Given the description of an element on the screen output the (x, y) to click on. 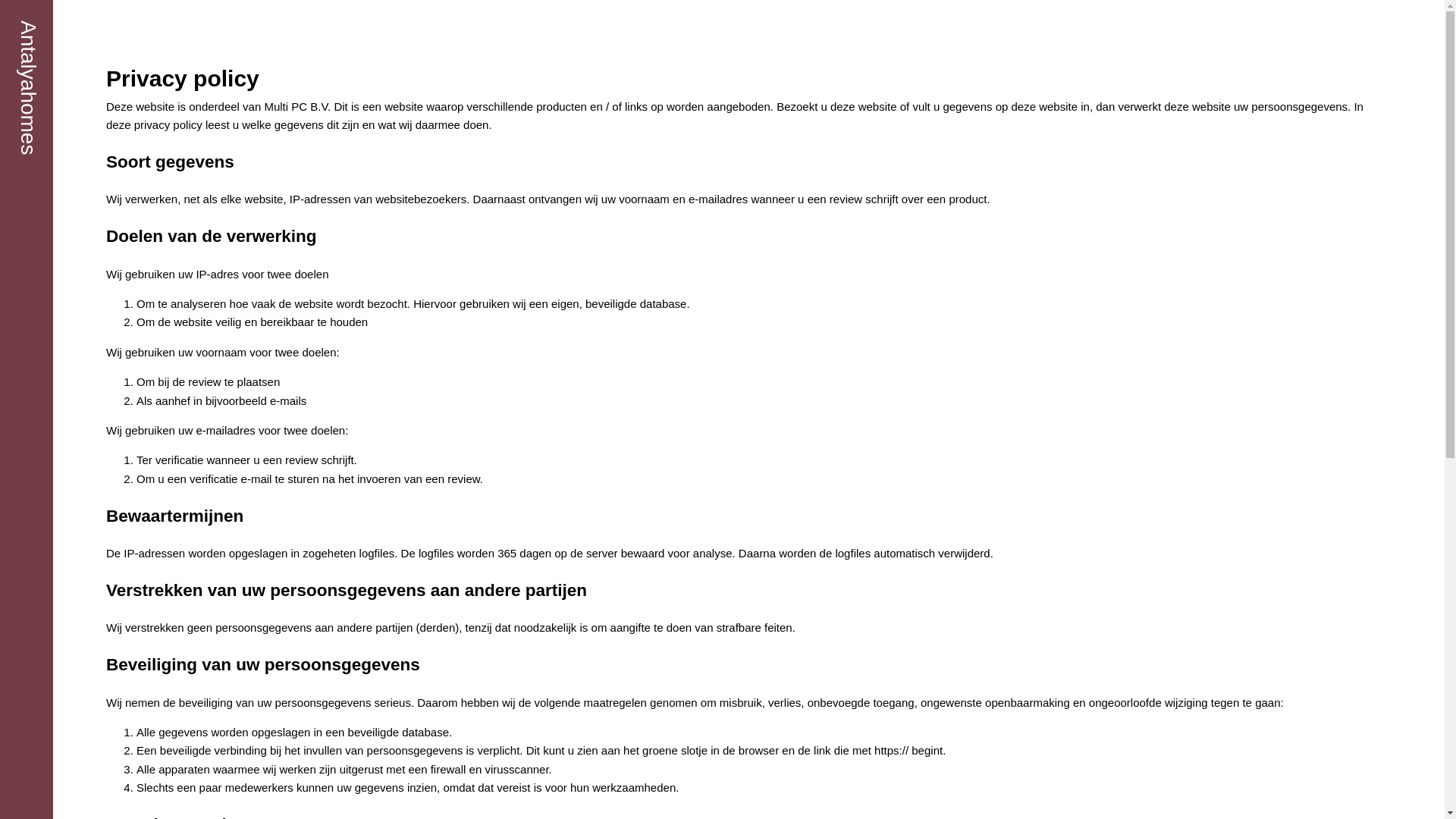
Antalyahomes Element type: text (28, 87)
